Given the description of an element on the screen output the (x, y) to click on. 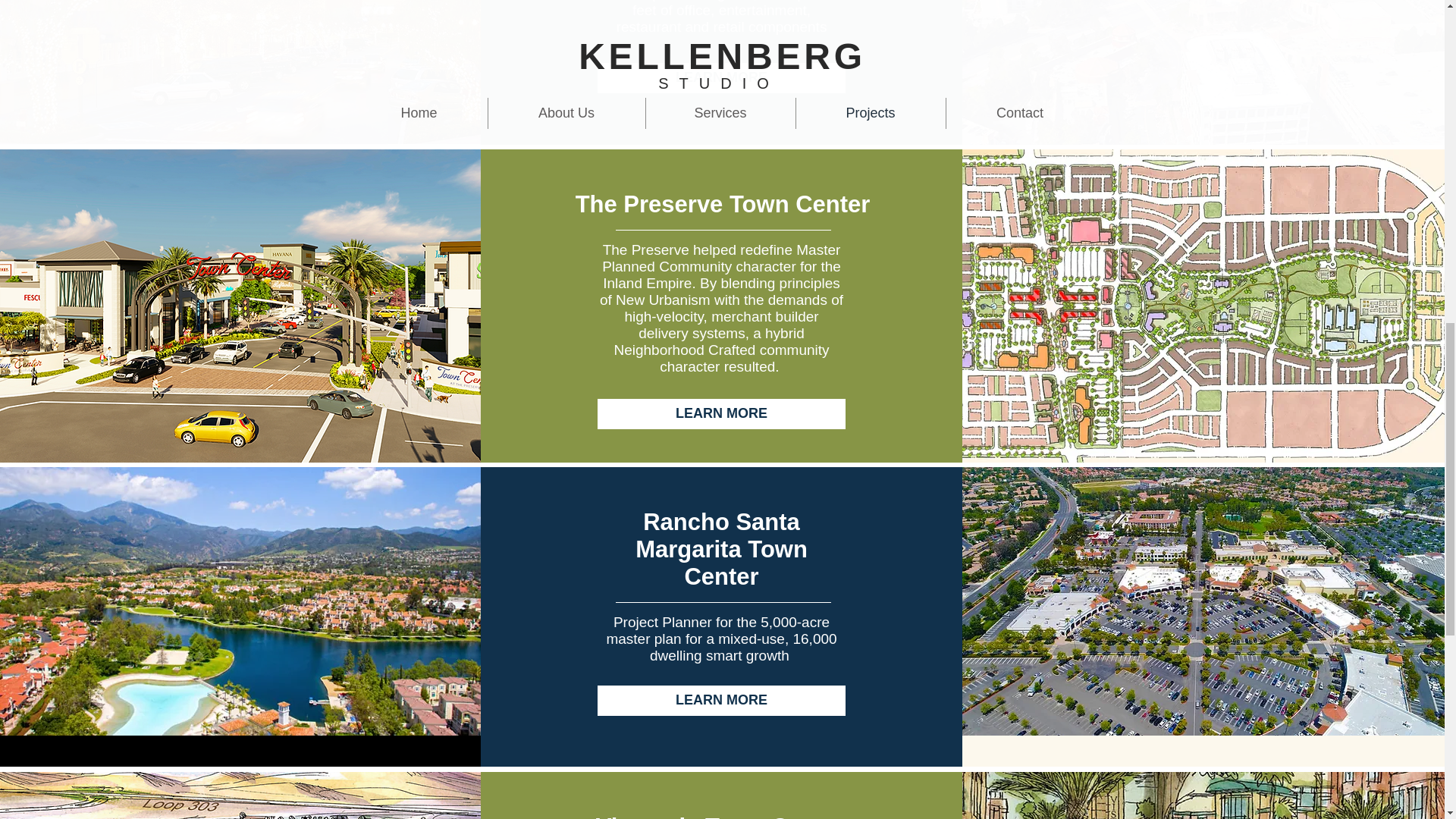
LEARN MORE (720, 413)
LEARN MORE (720, 700)
LEARN MORE (720, 78)
